Given the description of an element on the screen output the (x, y) to click on. 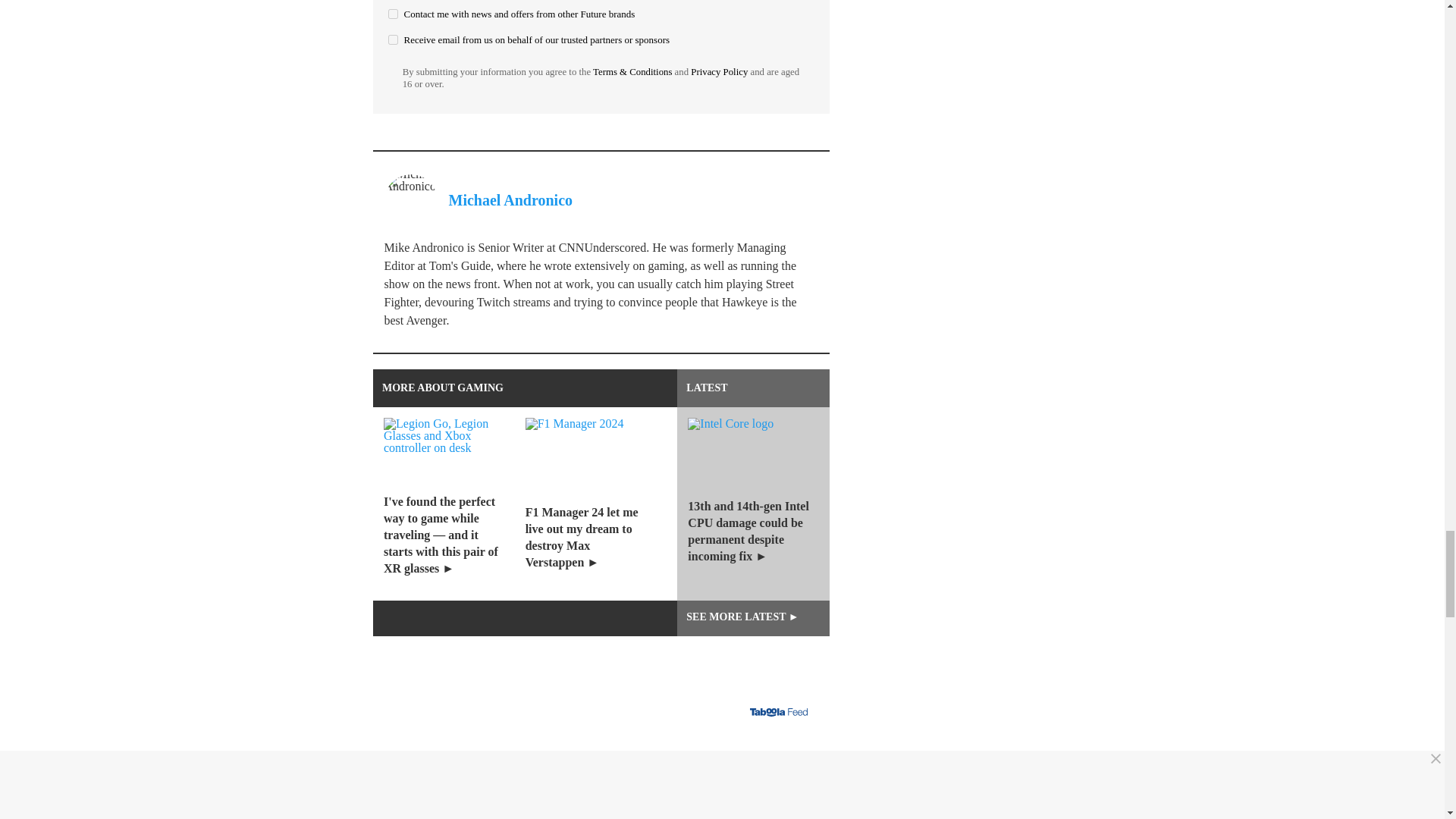
on (392, 13)
on (392, 40)
What is your writing missing? (600, 783)
